Given the description of an element on the screen output the (x, y) to click on. 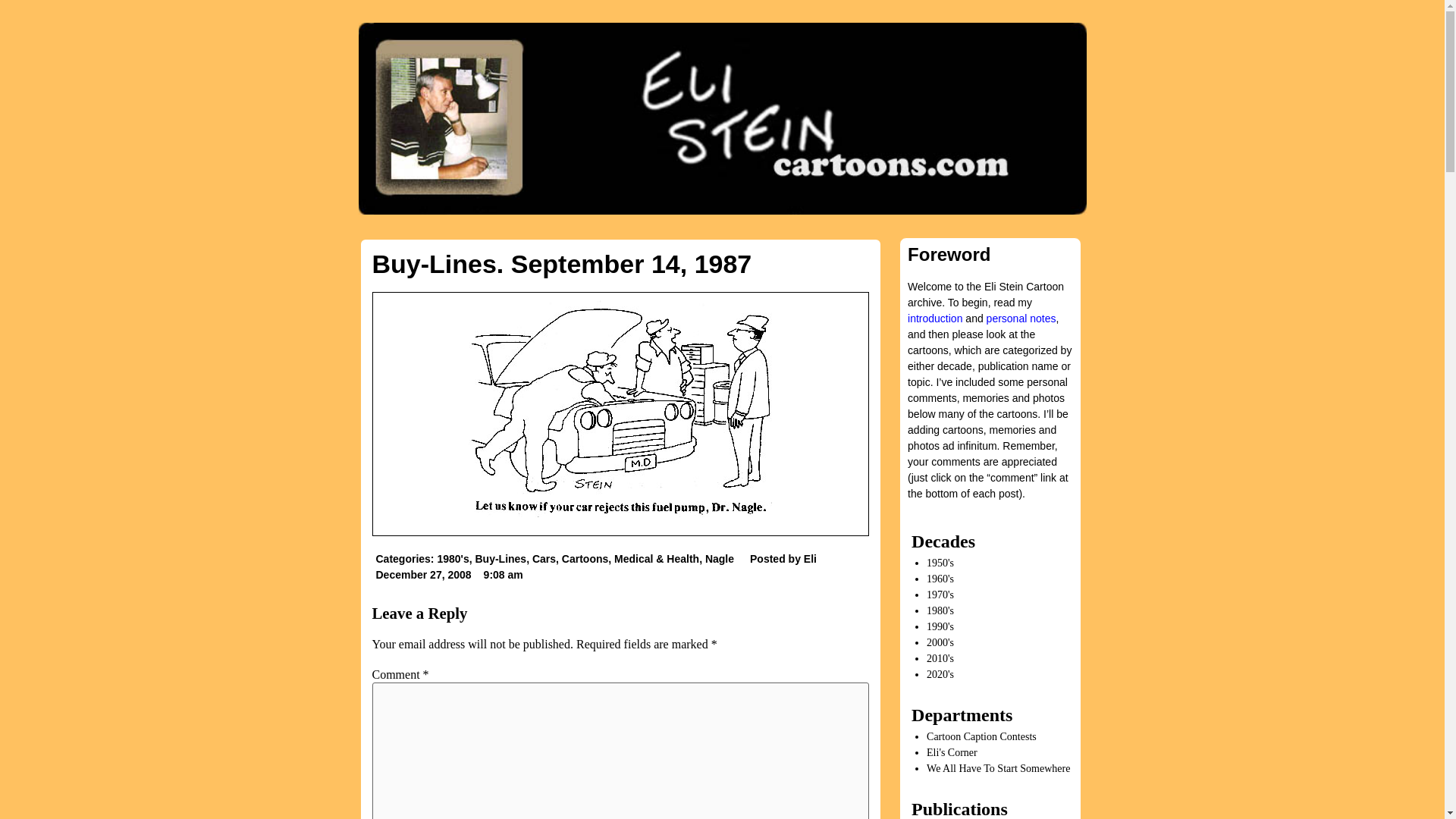
1980's (939, 610)
Decades (943, 541)
Nagle (718, 558)
2020's (939, 674)
personal notes (1022, 318)
2010's (939, 658)
Publications (959, 809)
1950's (939, 562)
Cartoons (585, 558)
introduction (936, 318)
1970's (939, 594)
Buy-Lines (499, 558)
2000's (939, 642)
We All Have To Start Somewhere (998, 767)
1980's (452, 558)
